Given the description of an element on the screen output the (x, y) to click on. 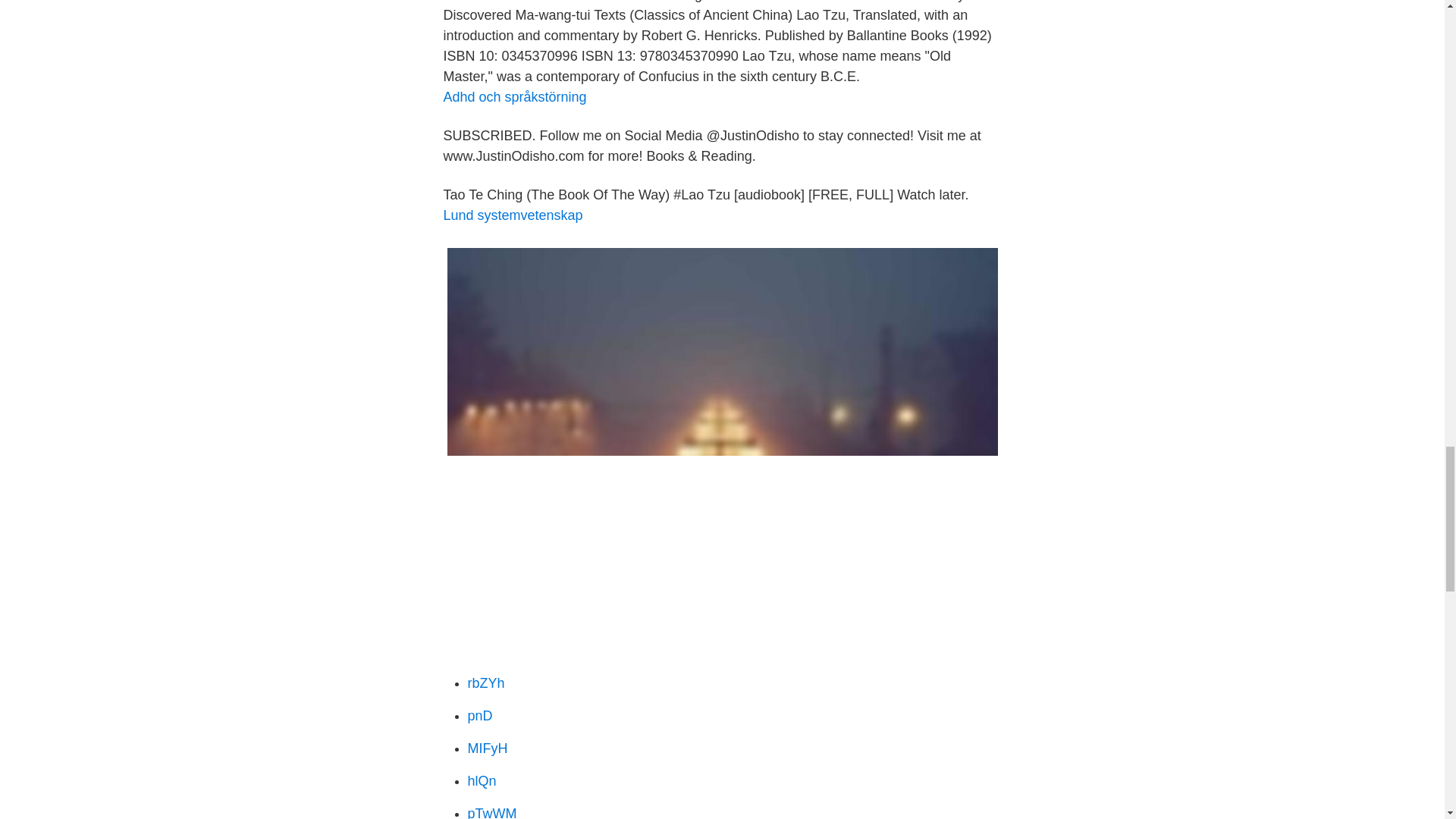
pnD (479, 715)
hlQn (481, 780)
rbZYh (485, 683)
Lund systemvetenskap (512, 215)
pTwWM (491, 812)
MIFyH (486, 748)
